Given the description of an element on the screen output the (x, y) to click on. 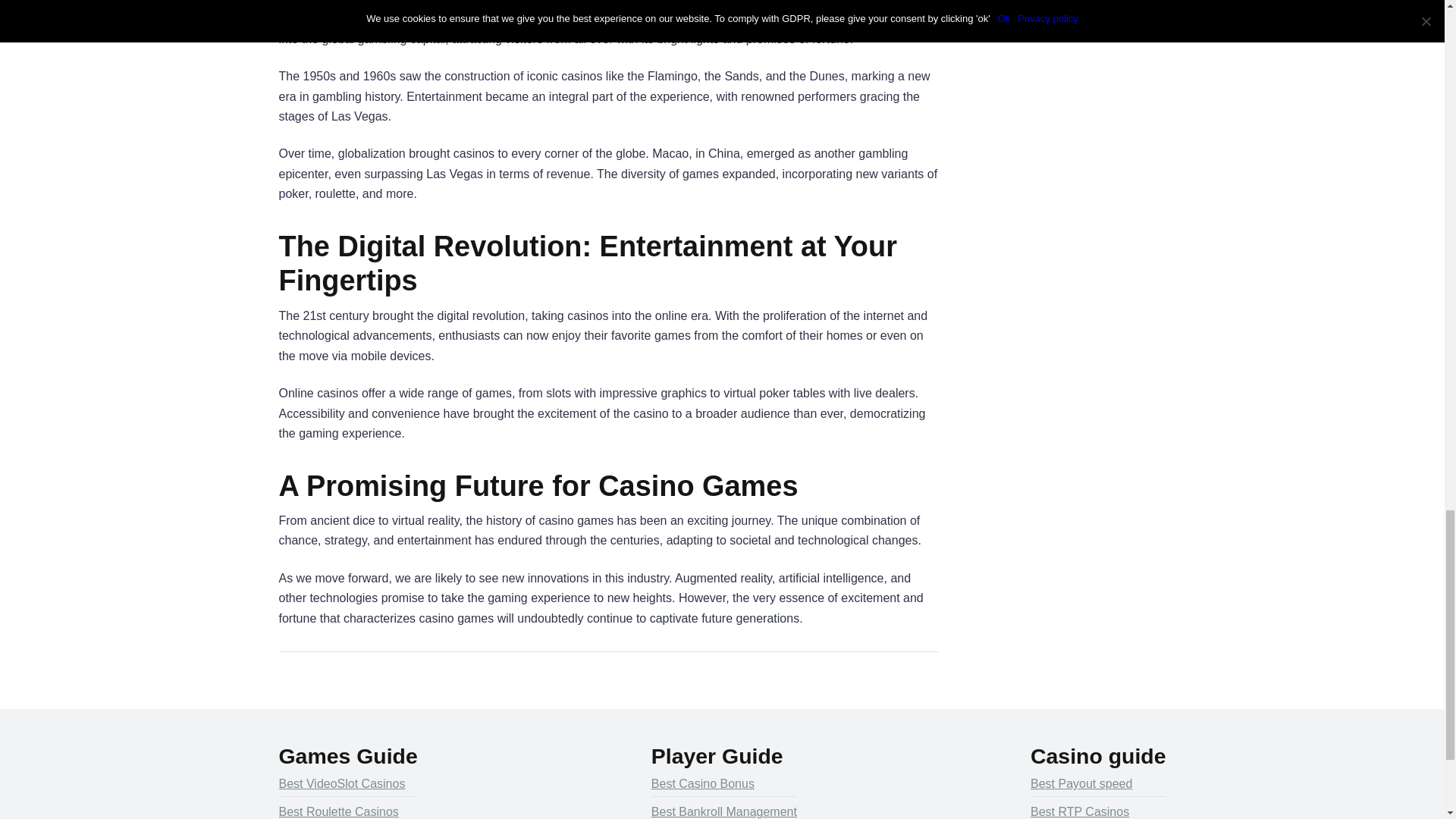
Best VideoSlot Casinos (342, 782)
Best Bankroll Management (723, 809)
Best Casino Bonus (702, 782)
Best RTP Casinos (1079, 809)
Best Payout speed (1081, 782)
Best Roulette Casinos (338, 809)
